Given the description of an element on the screen output the (x, y) to click on. 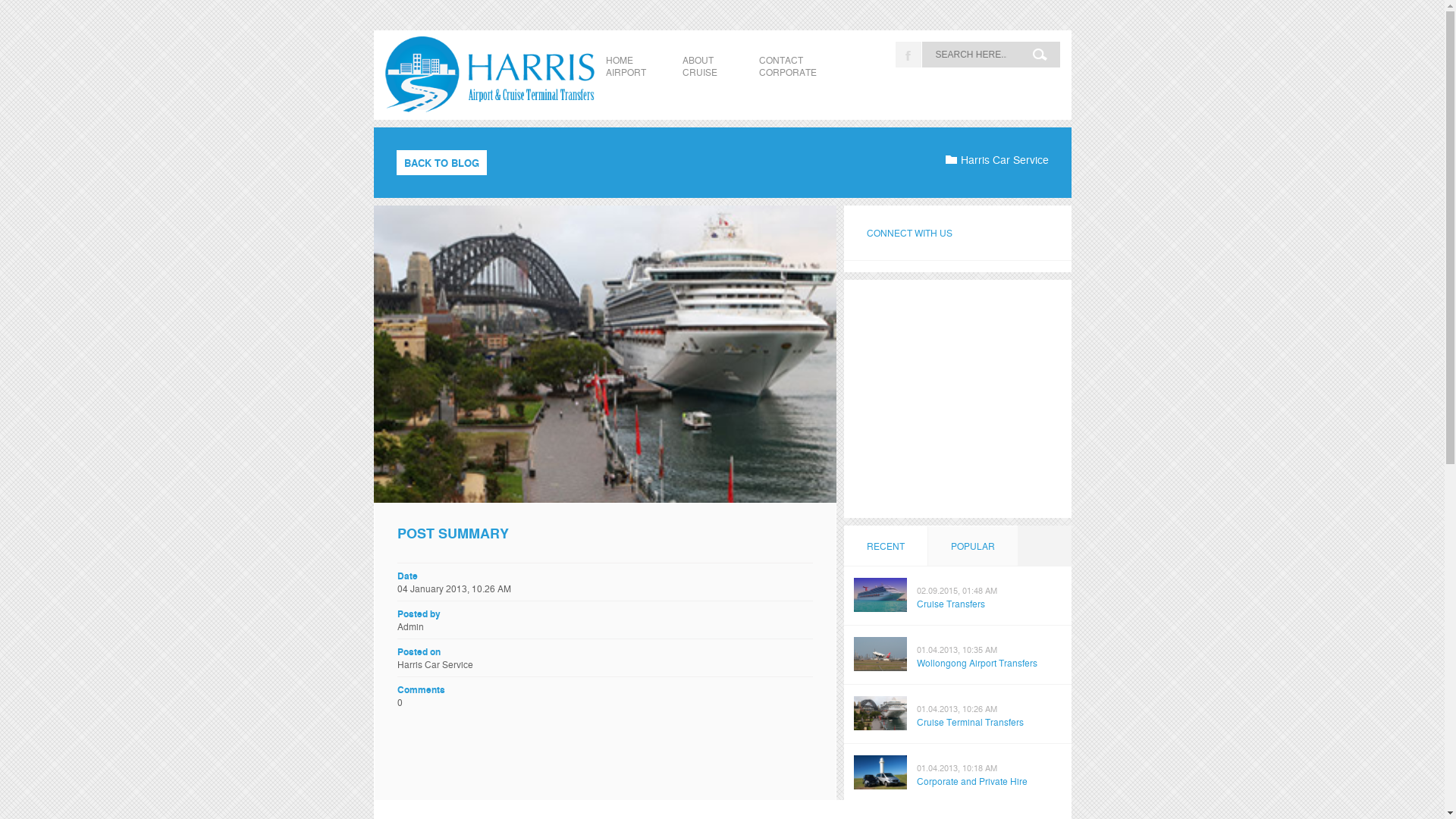
RECENT Element type: text (884, 545)
Corporate and Private Hire Element type: text (971, 780)
POPULAR Element type: text (971, 545)
BACK TO BLOG Element type: text (440, 162)
HOME Element type: text (618, 59)
CRUISE Element type: text (699, 71)
CORPORATE Element type: text (786, 71)
AIRPORT Element type: text (625, 71)
Harris Car Service Element type: text (996, 157)
CONTACT Element type: text (780, 59)
ABOUT Element type: text (697, 59)
F Element type: text (907, 54)
Advertisement Element type: hover (960, 397)
Cruise Transfers Element type: text (950, 602)
Cruise Terminal Transfers Element type: text (969, 721)
Wollongong Airport Transfers Element type: text (976, 661)
